Given the description of an element on the screen output the (x, y) to click on. 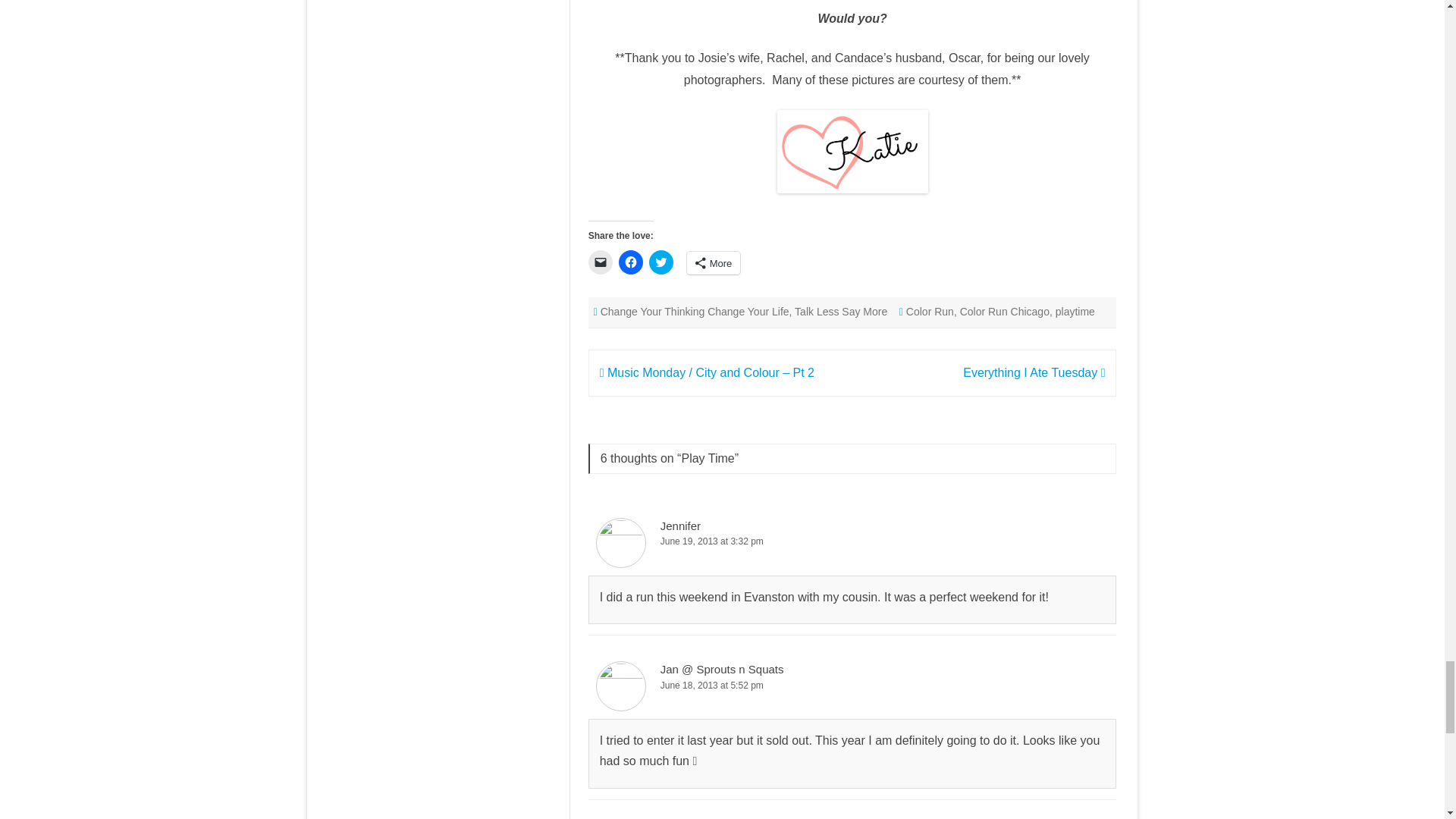
Click to email a link to a friend (600, 262)
Click to share on Facebook (630, 262)
More (714, 262)
Click to share on Twitter (660, 262)
